Given the description of an element on the screen output the (x, y) to click on. 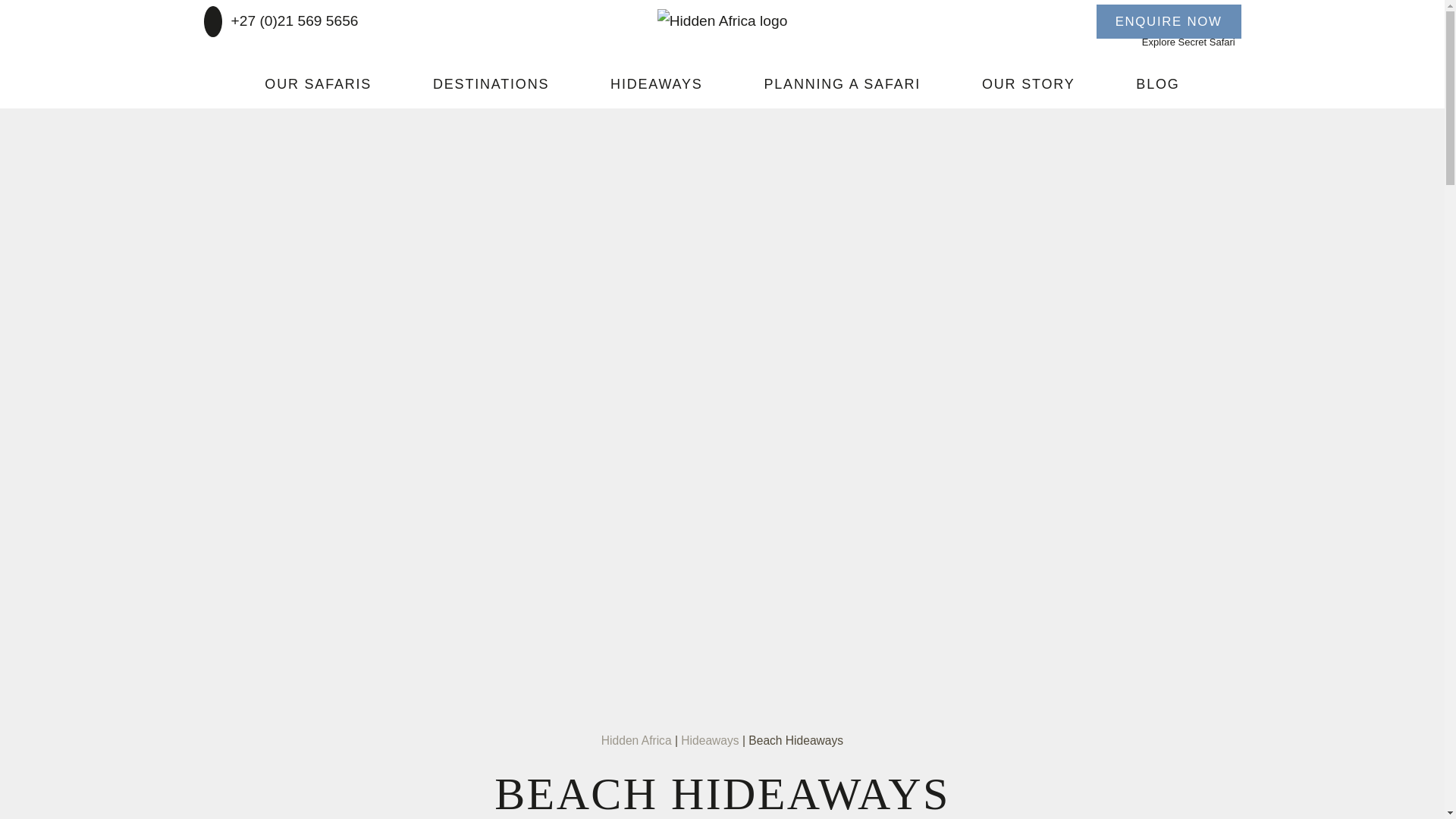
Go to Hideaways. (709, 739)
DESTINATIONS (490, 83)
HIDEAWAYS (656, 83)
Go to Hidden Africa. (636, 739)
OUR SAFARIS (318, 83)
ENQUIRE NOW (1168, 21)
Explore Secret Safari (1191, 42)
